Given the description of an element on the screen output the (x, y) to click on. 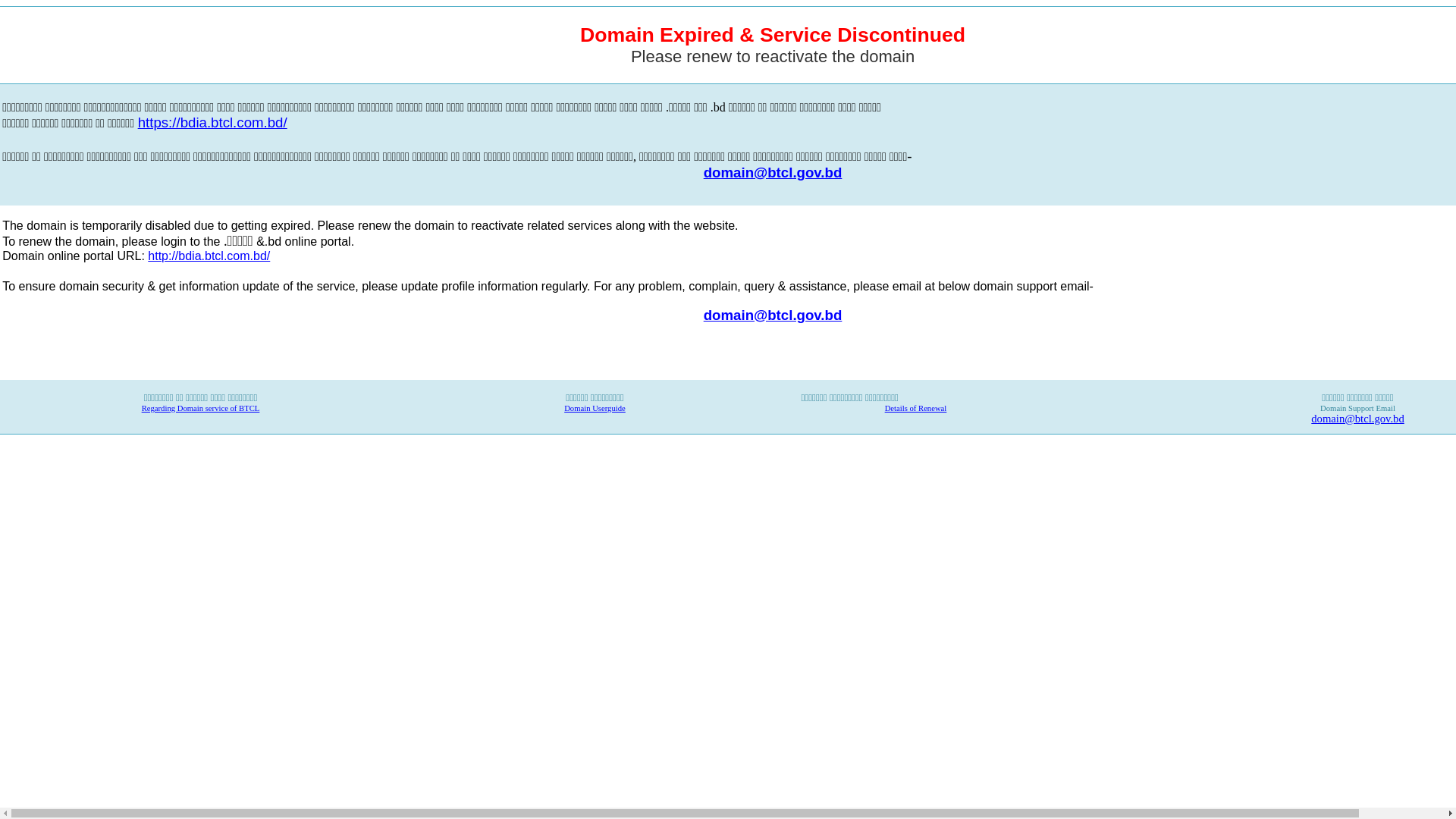
Regarding Domain service of BTCL Element type: text (200, 408)
Domain Userguide Element type: text (594, 408)
https://bdia.btcl.com.bd/ Element type: text (212, 123)
domain@btcl.gov.bd Element type: text (772, 172)
http://bdia.btcl.com.bd/ Element type: text (208, 256)
Details of Renewal Element type: text (915, 408)
domain@btcl.gov.bd Element type: text (1357, 418)
domain@btcl.gov.bd Element type: text (772, 314)
